Given the description of an element on the screen output the (x, y) to click on. 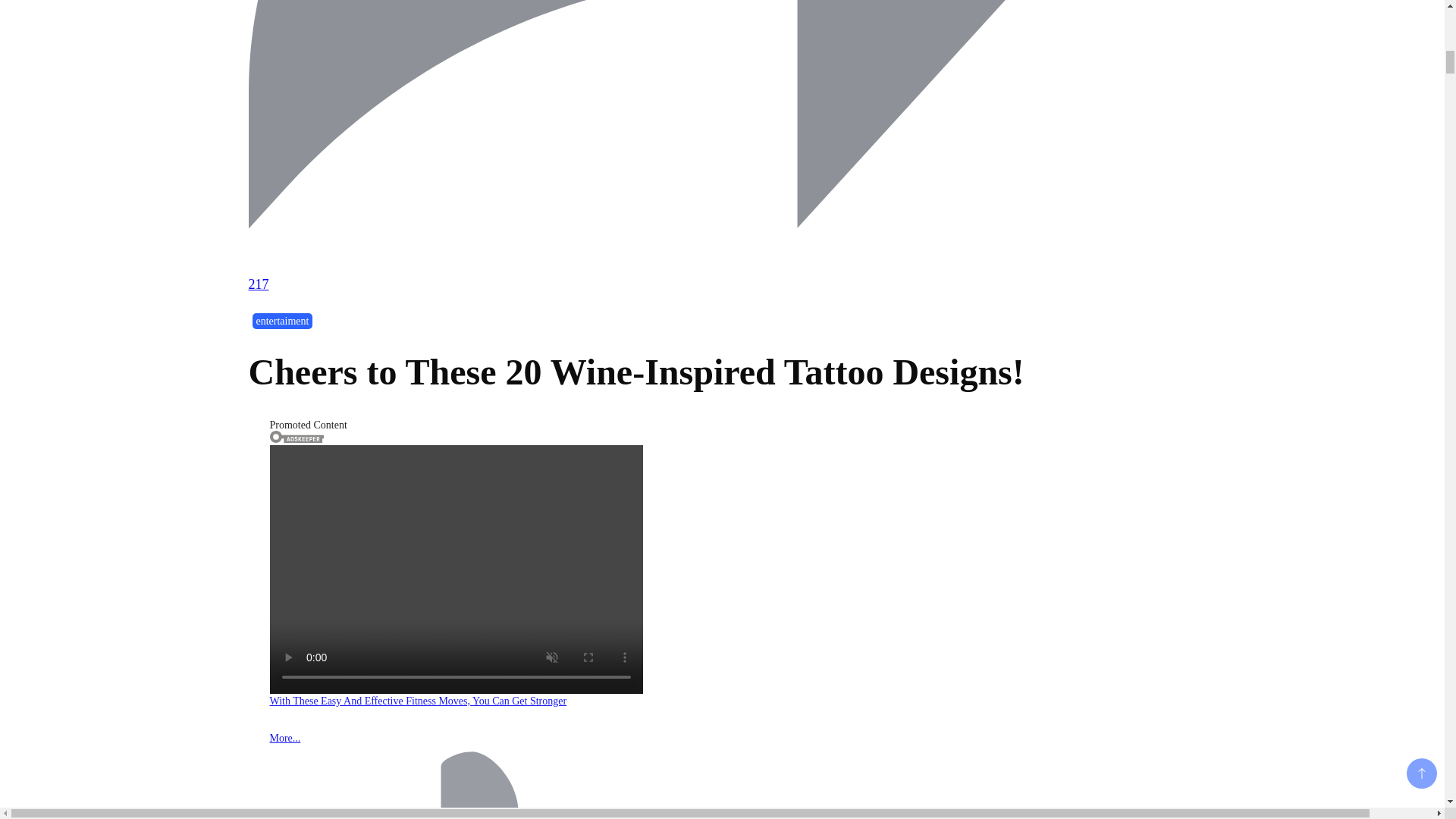
entertaiment (282, 320)
